Given the description of an element on the screen output the (x, y) to click on. 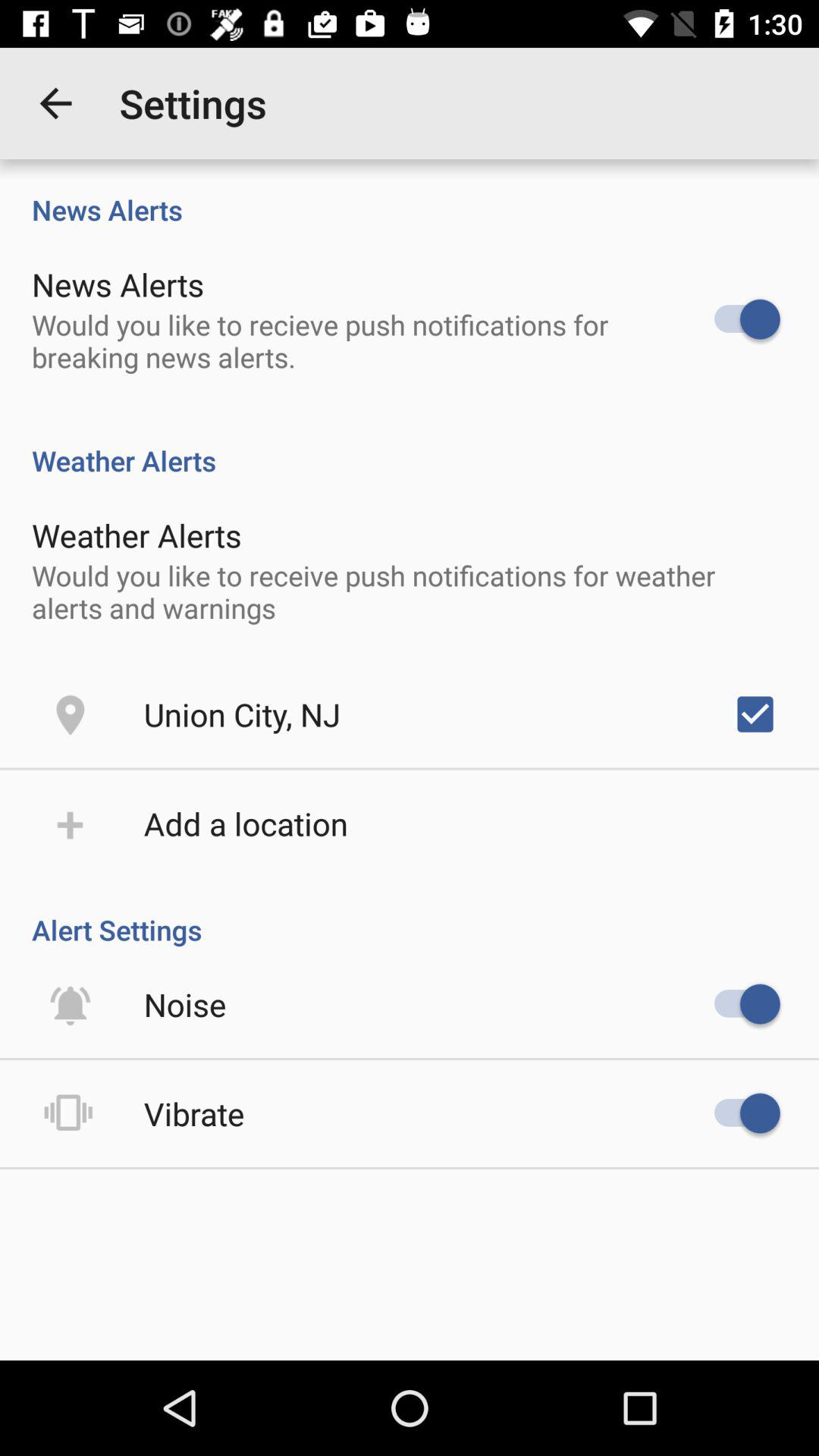
flip to the union city, nj icon (241, 713)
